Given the description of an element on the screen output the (x, y) to click on. 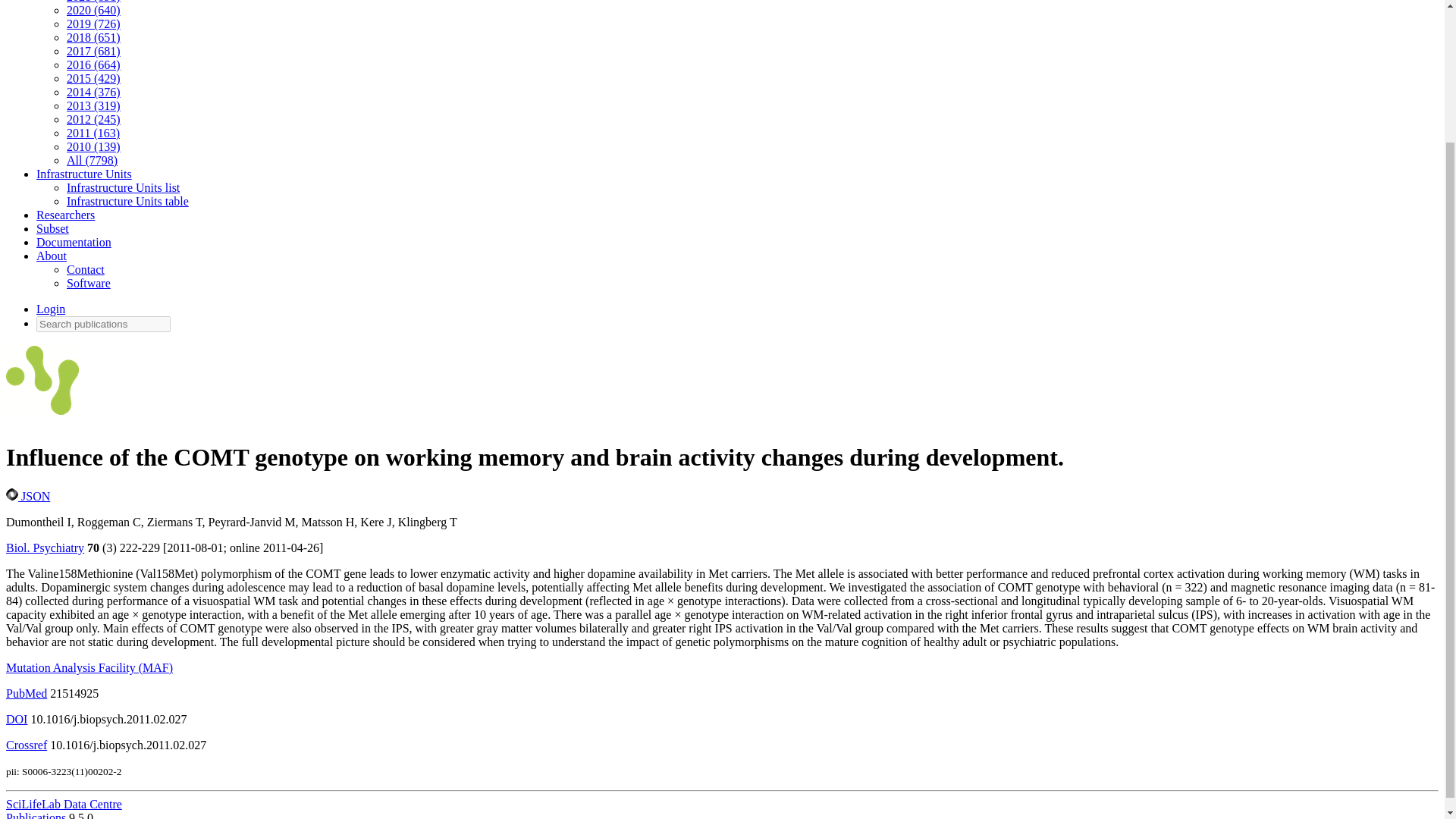
Login (50, 308)
Biol. Psychiatry (44, 547)
JSON (27, 495)
About (51, 255)
Software (88, 282)
Crossref (25, 744)
Infrastructure Units (84, 173)
Infrastructure Units list (122, 187)
Infrastructure Units table (127, 201)
Subset (52, 228)
Researchers (65, 214)
PubMed (25, 693)
SciLifeLab Infrastructure Units Publications (41, 384)
SciLifeLab Data Centre (63, 803)
Documentation (74, 241)
